Given the description of an element on the screen output the (x, y) to click on. 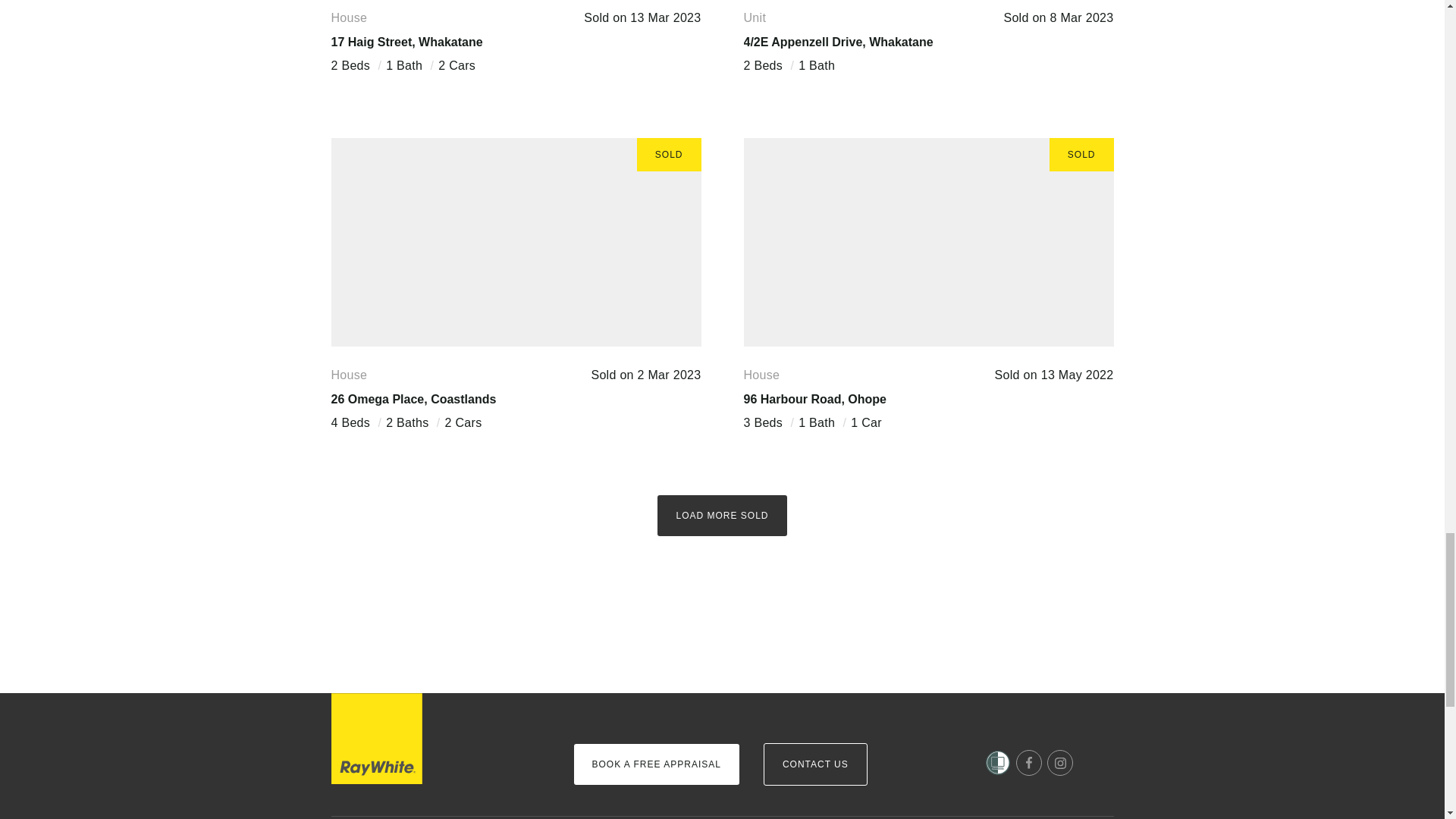
SOLD (927, 242)
Instagram (1059, 762)
BOOK A FREE APPRAISAL (655, 763)
LOAD MORE SOLD (722, 515)
Facebook (1029, 762)
Ray White (376, 737)
17 Haig Street, Whakatane (405, 42)
26 Omega Place, Coastlands (413, 399)
SOLD (515, 242)
CONTACT US (814, 763)
96 Harbour Road, Ohope (813, 399)
